Given the description of an element on the screen output the (x, y) to click on. 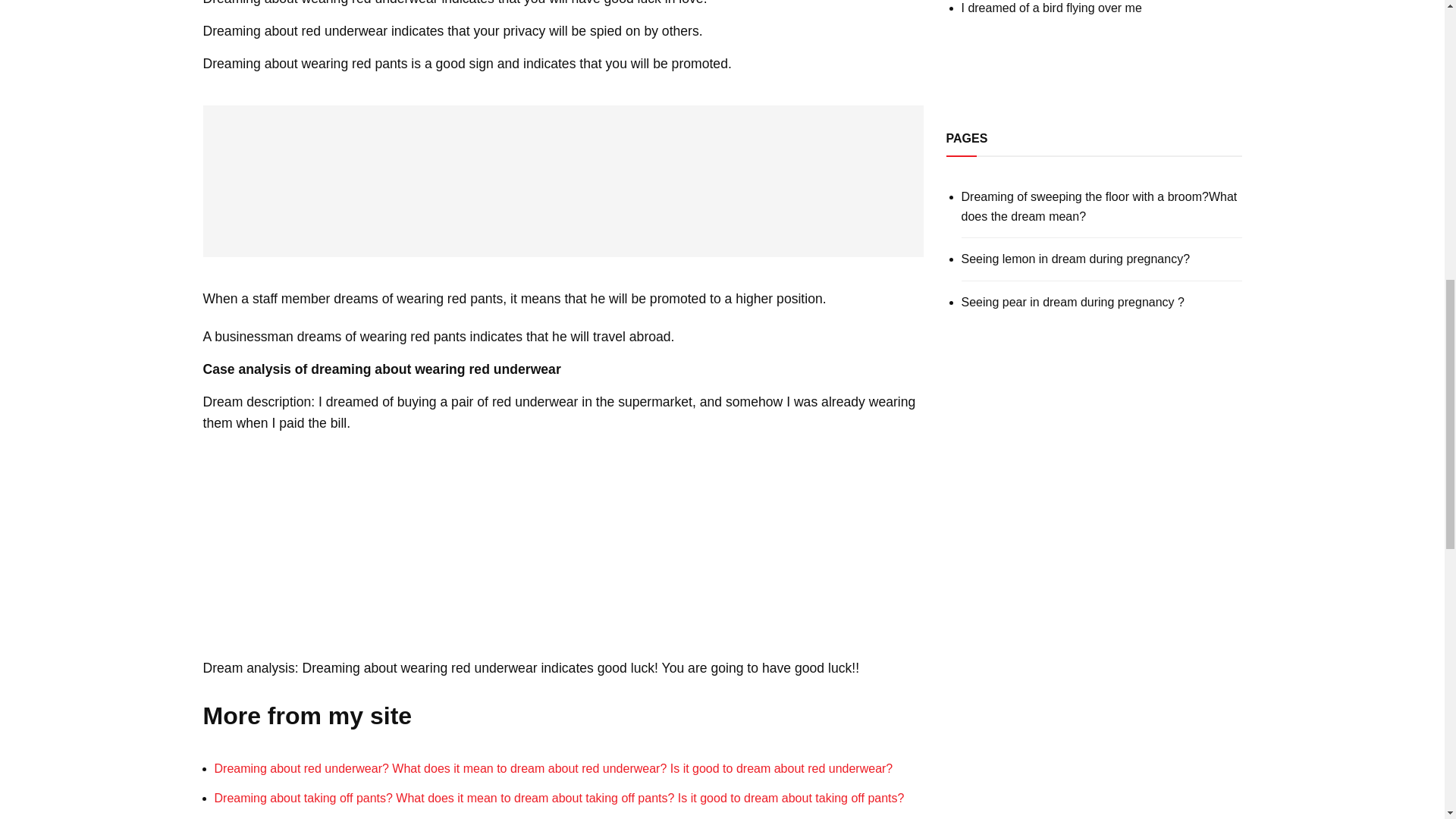
Advertisement (563, 181)
Advertisement (1093, 62)
